Given the description of an element on the screen output the (x, y) to click on. 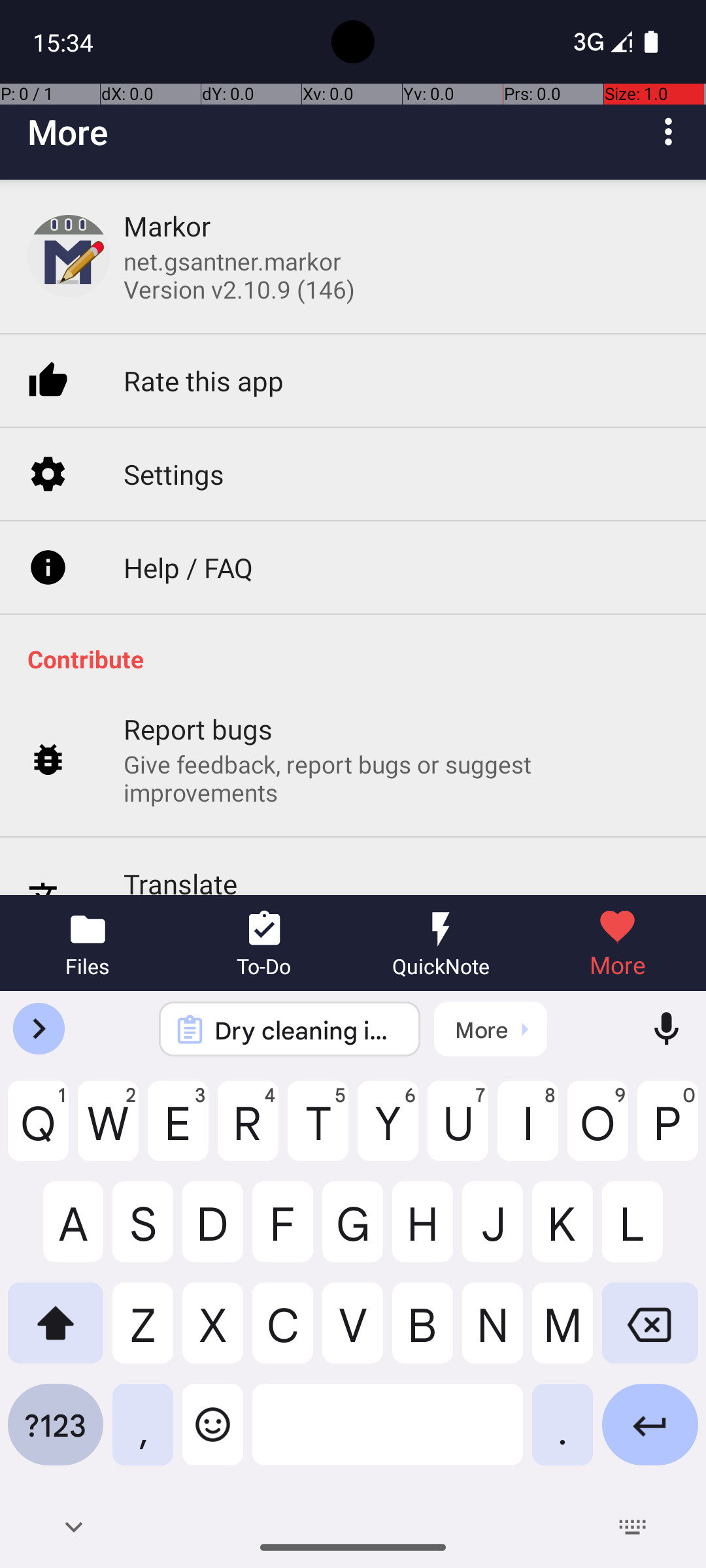
Contribute Element type: android.widget.TextView (359, 658)
net.gsantner.markor
Version v2.10.9 (146) Element type: android.widget.TextView (239, 274)
Rate this app Element type: android.widget.TextView (203, 380)
Help / FAQ Element type: android.widget.TextView (188, 567)
Report bugs Element type: android.widget.TextView (198, 728)
Give feedback, report bugs or suggest improvements Element type: android.widget.TextView (400, 777)
Translate Element type: android.widget.TextView (180, 880)
Dry cleaning is ready for pick-up. Element type: android.widget.TextView (306, 1029)
